Given the description of an element on the screen output the (x, y) to click on. 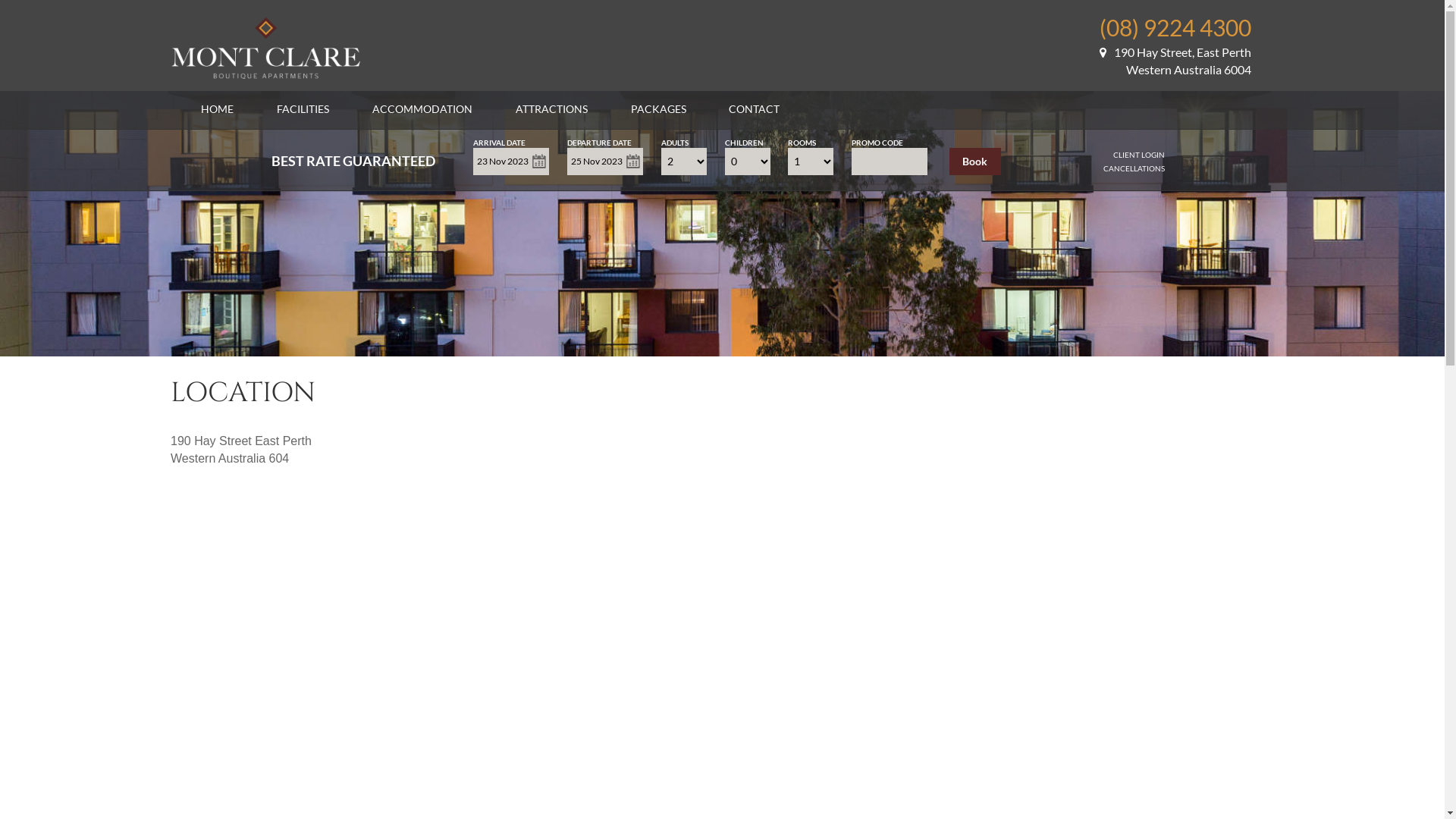
190 Hay Street, East Perth
Western Australia 6004 Element type: text (1175, 60)
CANCELLATIONS Element type: text (1133, 167)
PACKAGES Element type: text (658, 109)
(08) 9224 4300 Element type: text (1175, 26)
HOME Element type: text (216, 109)
CONTACT Element type: text (753, 109)
ACCOMMODATION Element type: text (422, 109)
FACILITIES Element type: text (302, 109)
ATTRACTIONS Element type: text (551, 109)
Book Element type: text (975, 161)
CLIENT LOGIN Element type: text (1138, 154)
